Given the description of an element on the screen output the (x, y) to click on. 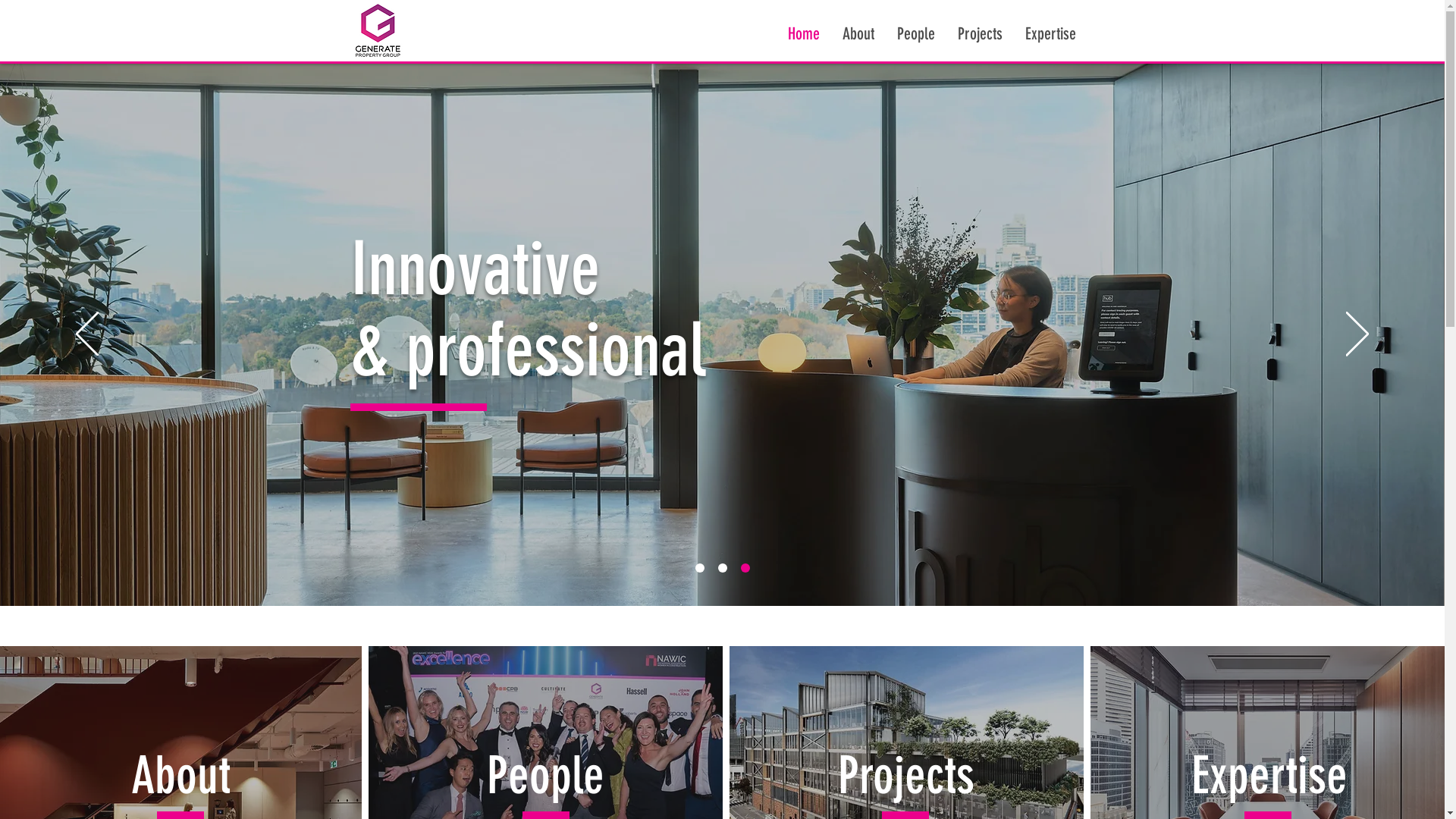
Expertise Element type: text (1049, 33)
Projects Element type: text (979, 33)
Projects Element type: text (905, 775)
Expertise Element type: text (1269, 775)
People Element type: text (545, 775)
People Element type: text (915, 33)
Home Element type: text (803, 33)
About Element type: text (180, 775)
About Element type: text (858, 33)
